Given the description of an element on the screen output the (x, y) to click on. 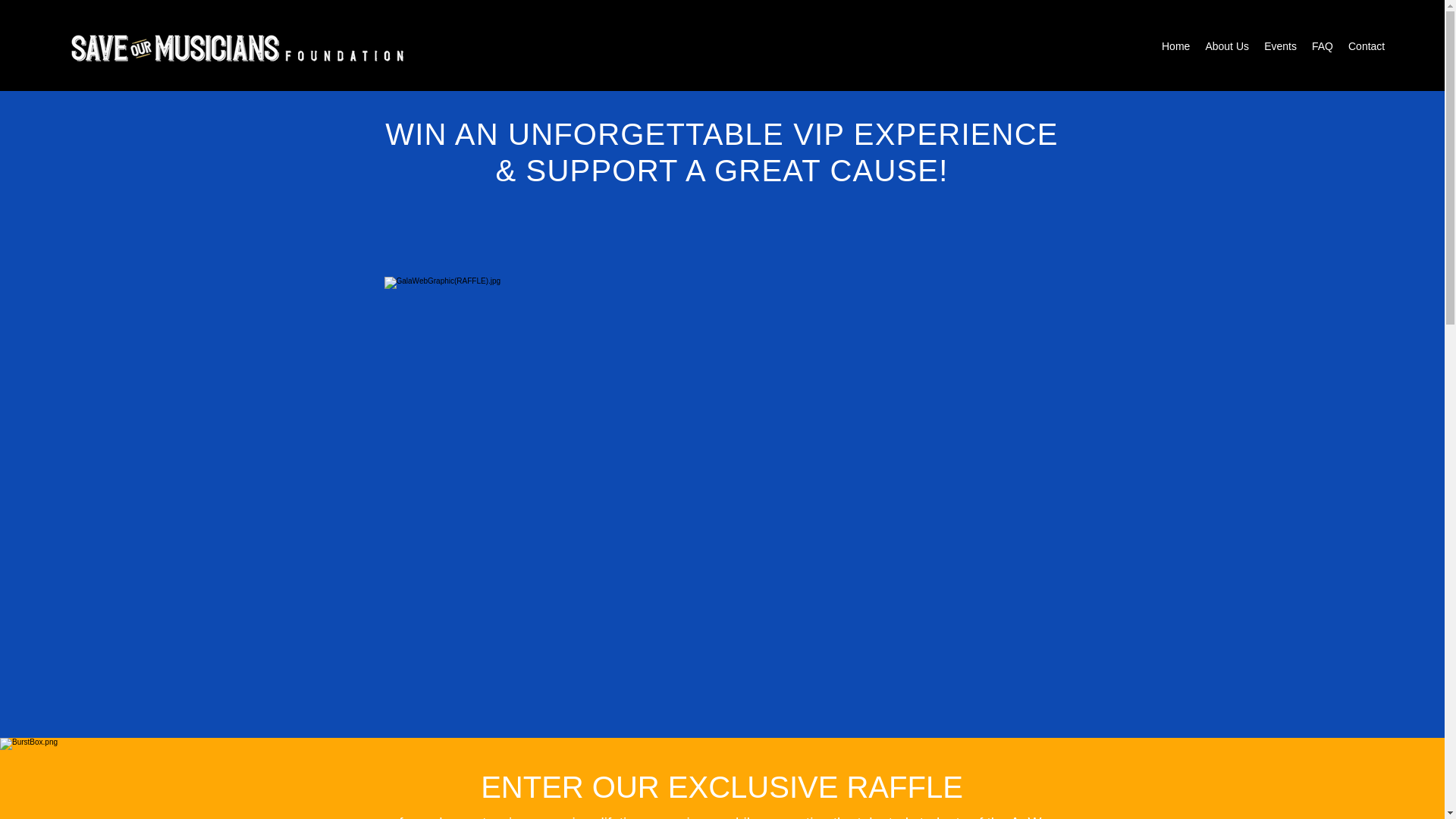
FAQ (1322, 46)
Home (1175, 46)
About Us (1226, 46)
Contact (1365, 46)
Events (1280, 46)
